Given the description of an element on the screen output the (x, y) to click on. 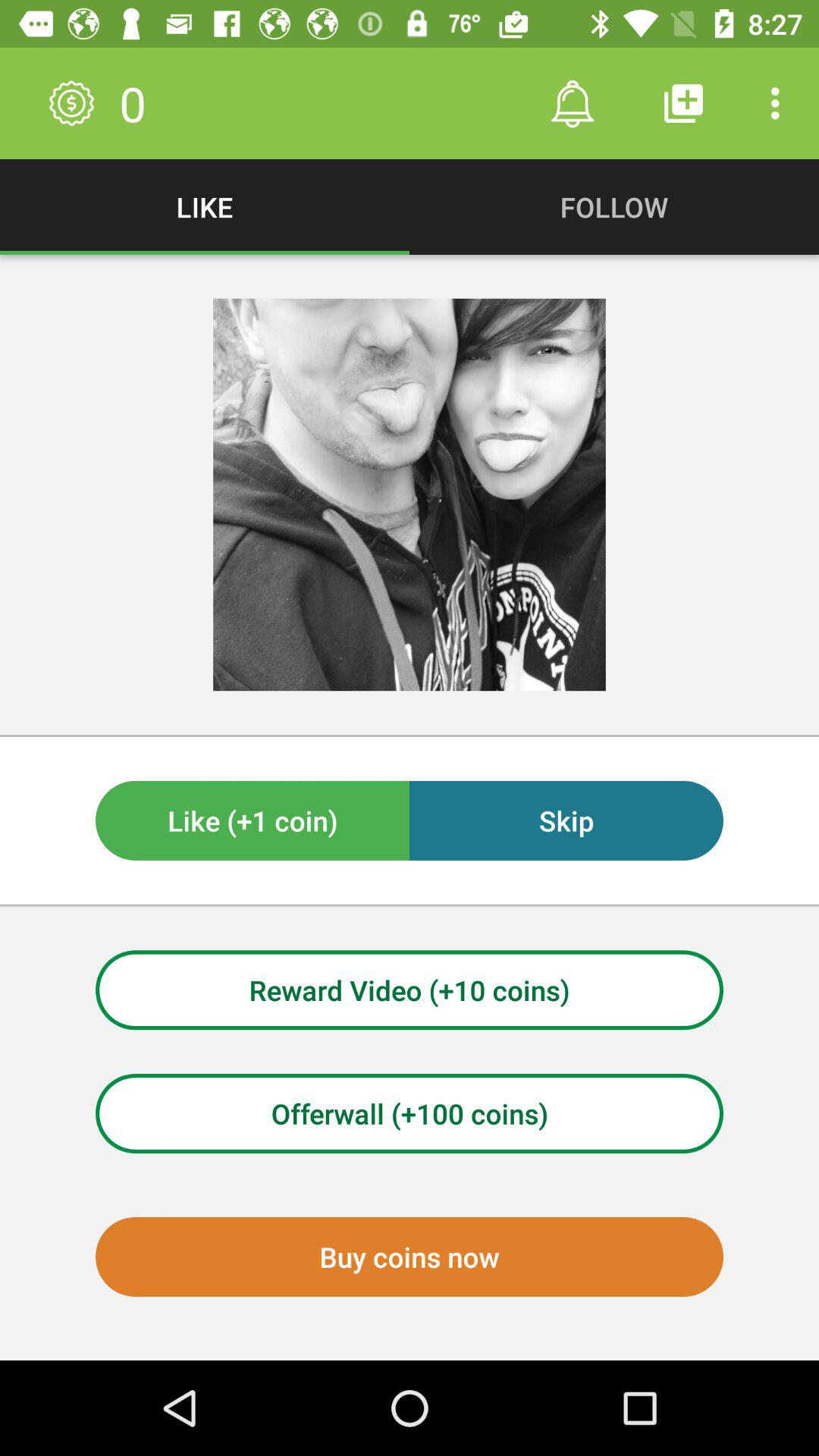
launch the item next to the skip icon (252, 820)
